Given the description of an element on the screen output the (x, y) to click on. 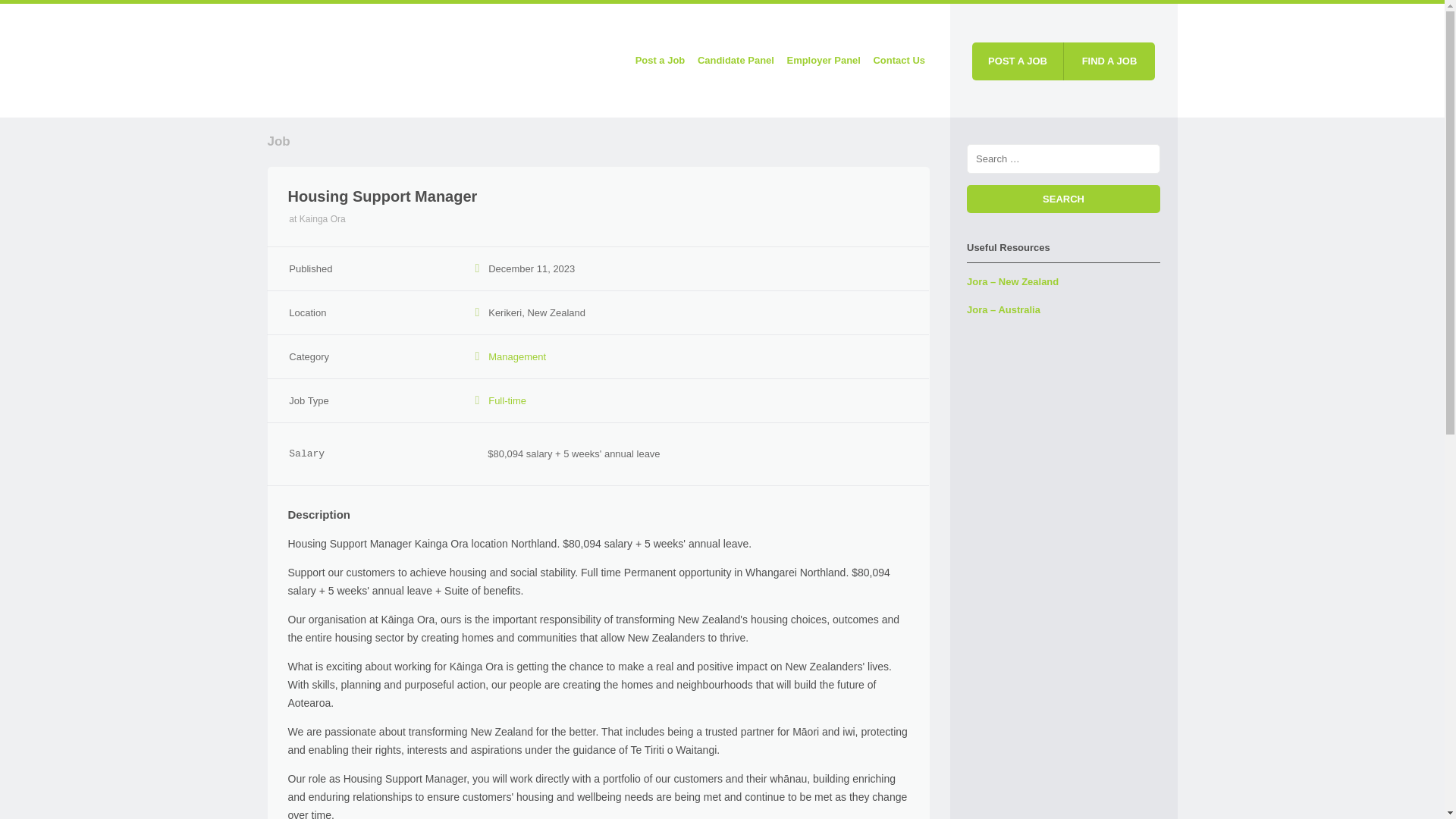
Employer Panel (822, 60)
POST A JOB (1017, 61)
Full-time (506, 400)
Contact Us (898, 60)
Search (1063, 198)
FIND A JOB (1108, 61)
Skip to content (304, 60)
Post a Job (660, 60)
Candidate Panel (735, 60)
Skip to content (304, 60)
Management (516, 356)
Search (1063, 198)
